Given the description of an element on the screen output the (x, y) to click on. 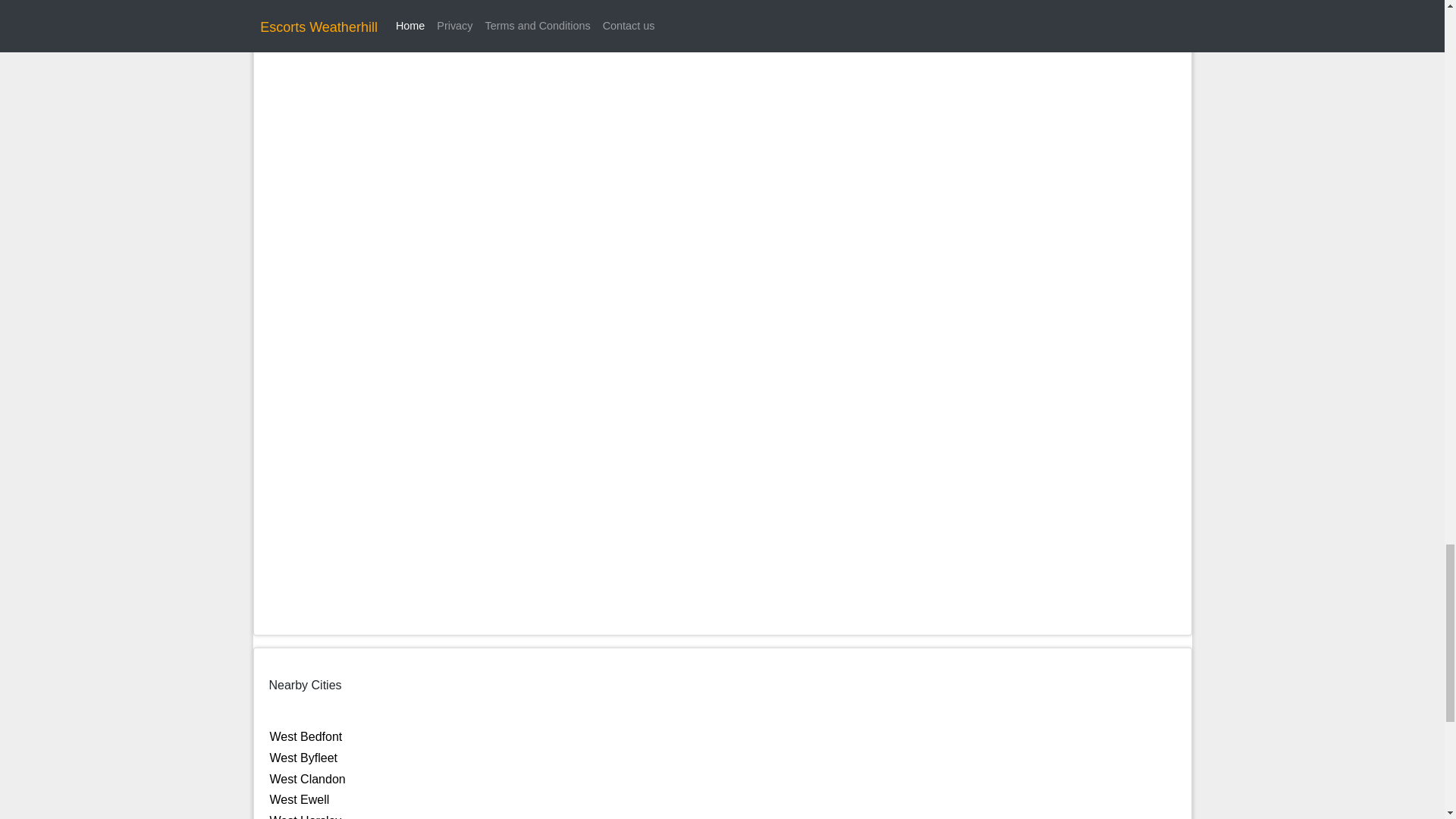
West Bedfont (305, 736)
West Ewell (299, 799)
West Horsley (305, 816)
West Clandon (307, 779)
West Byfleet (303, 757)
